Given the description of an element on the screen output the (x, y) to click on. 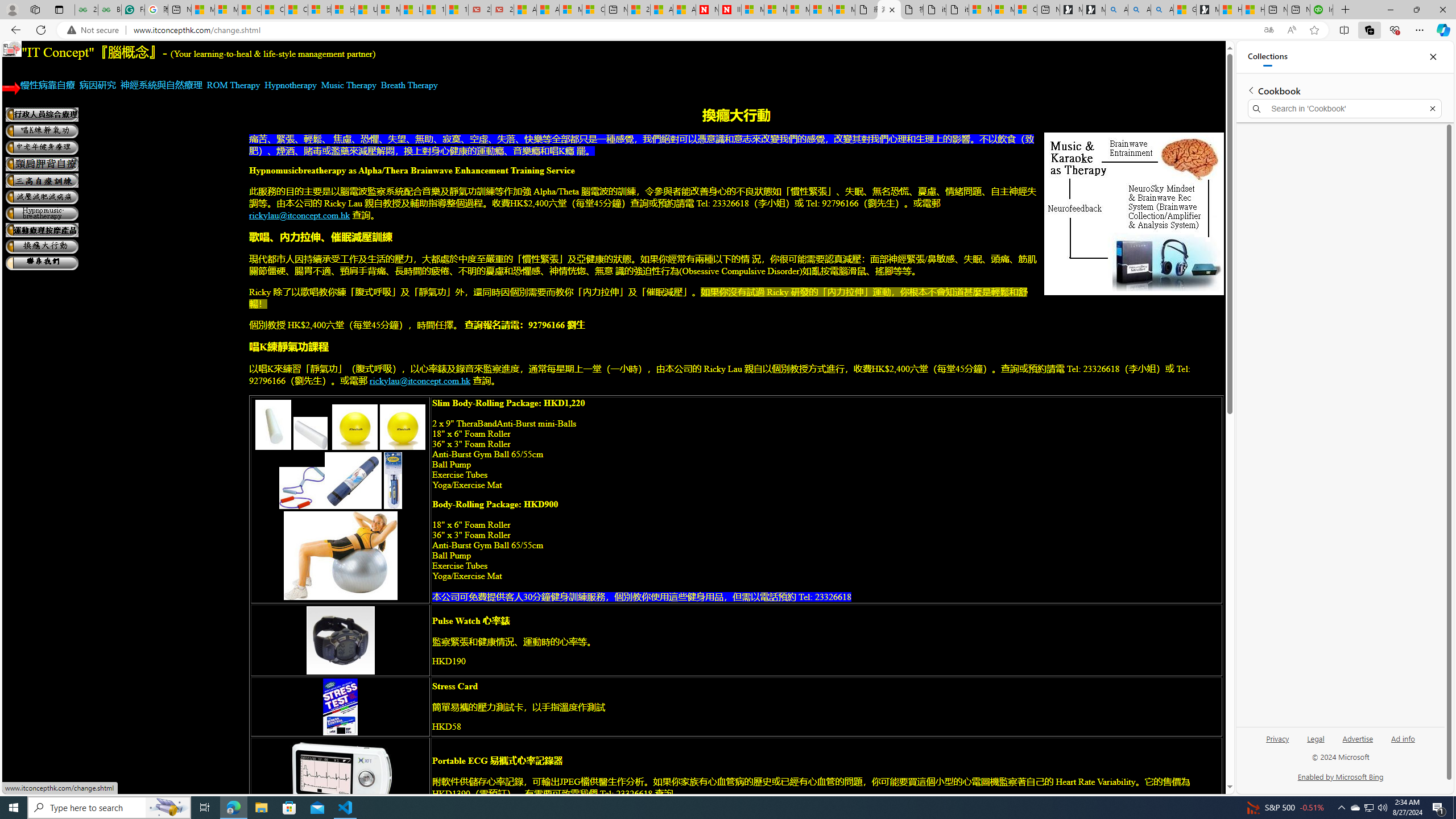
Lifestyle - MSN (411, 9)
Microsoft Start (202, 9)
Show translate options (1268, 29)
